Given the description of an element on the screen output the (x, y) to click on. 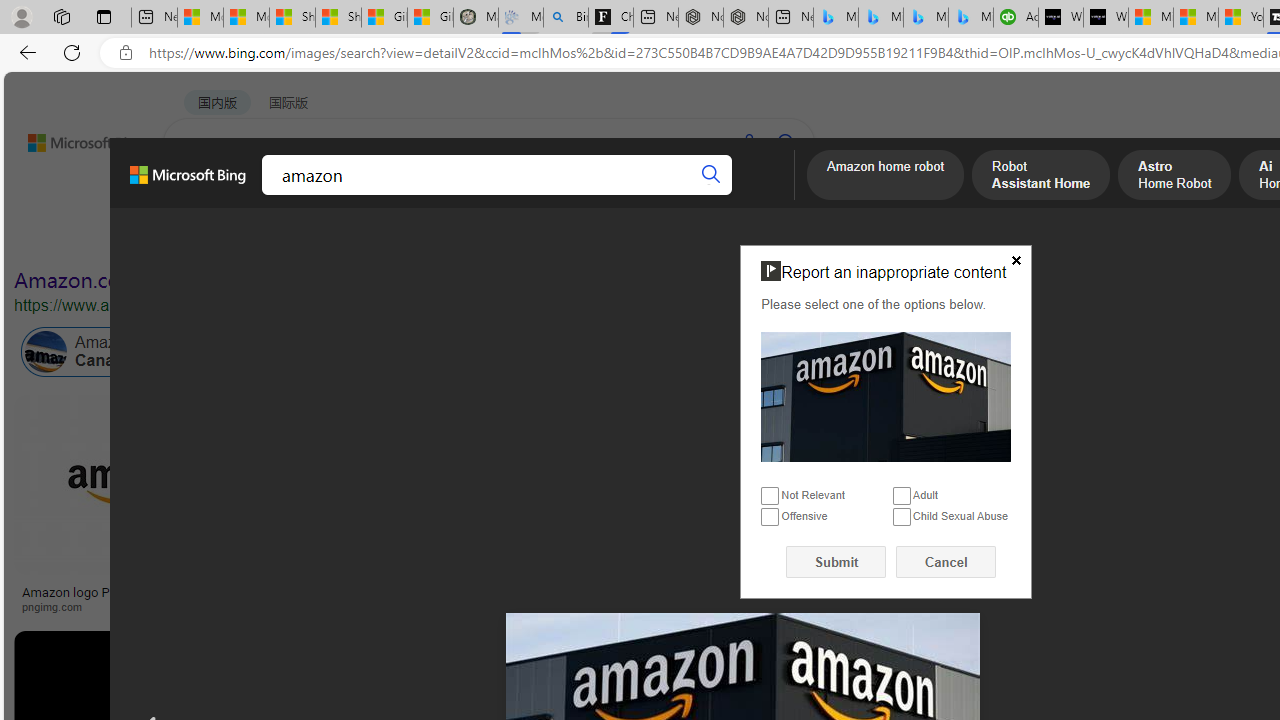
Class: item col (893, 351)
Two Reasons Why Retailers Need to Leverage Amazon (396, 598)
Amazon.com. Spend less. Smile more. (195, 280)
Microsoft Bing, Back to Bing search (188, 183)
Listen: What's next for Amazon? (639, 592)
Adult (901, 496)
Type (372, 237)
pngimg.com (58, 605)
Image result for amazon (982, 485)
Amazon India (850, 351)
